Given the description of an element on the screen output the (x, y) to click on. 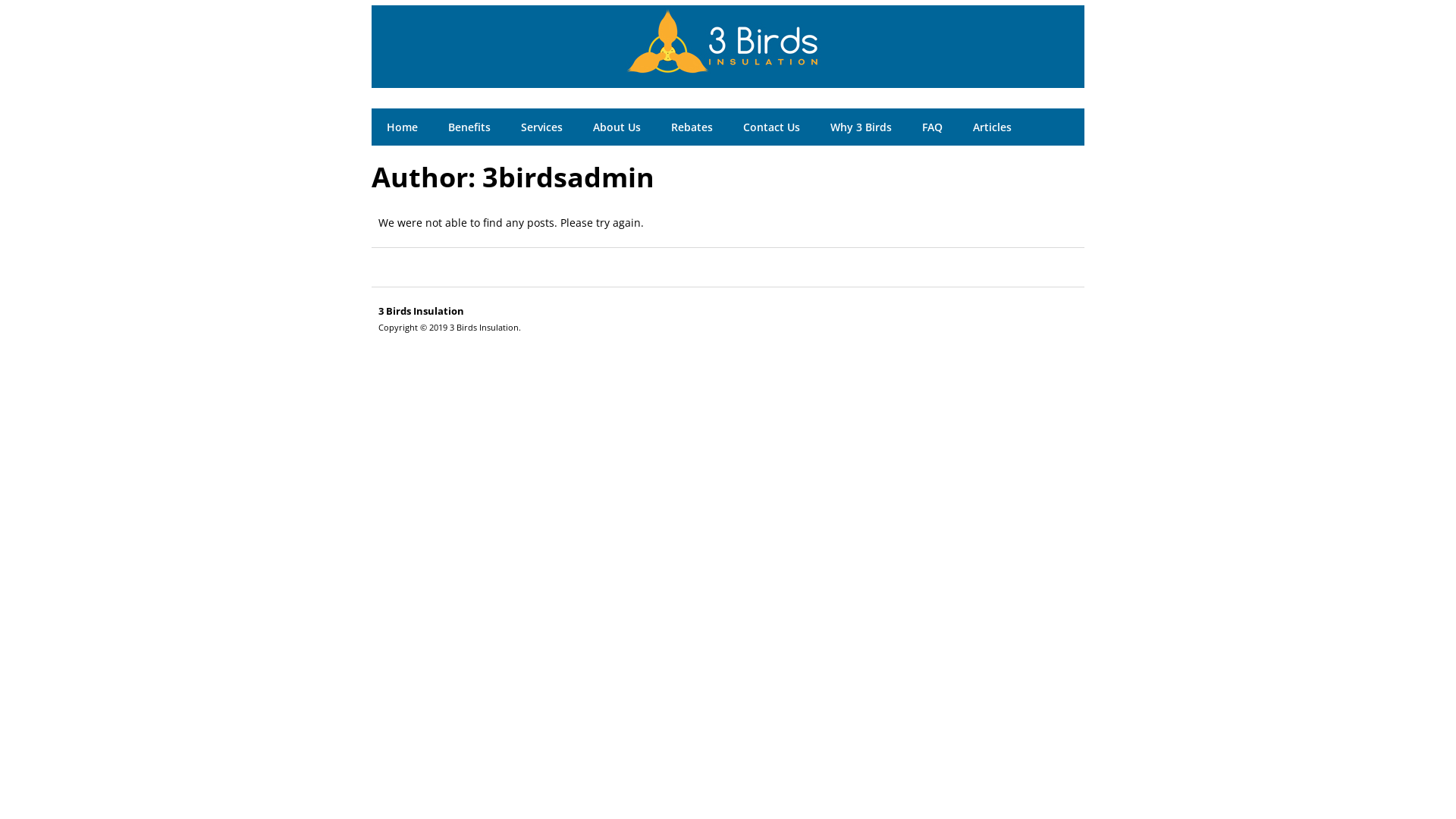
Contact Us Element type: text (771, 125)
Why 3 Birds Element type: text (860, 125)
Home Element type: text (402, 125)
FAQ Element type: text (931, 125)
Benefits Element type: text (469, 125)
Articles Element type: text (991, 125)
Rebates Element type: text (691, 125)
Services Element type: text (541, 125)
3 Birds Insulation Element type: hover (727, 71)
About Us Element type: text (616, 125)
